Given the description of an element on the screen output the (x, y) to click on. 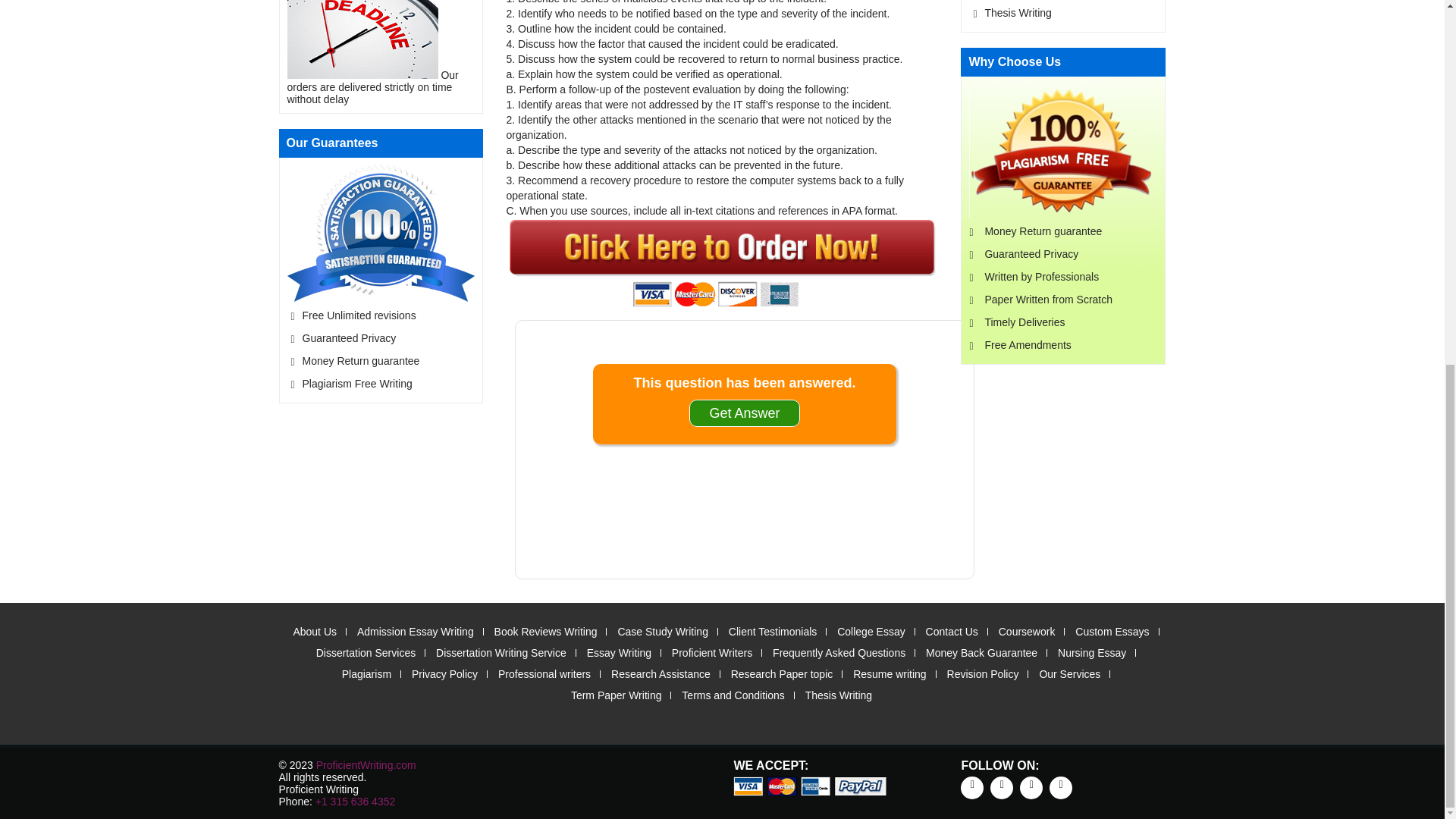
Money Back Guarantee (981, 653)
College Essay (871, 631)
Custom Essays (1111, 631)
Nursing Essay (1091, 653)
Terms and Conditions (732, 695)
Admission Essay Writing (415, 631)
Professional writers (544, 674)
Frequently Asked Questions (839, 653)
Privacy Policy (444, 674)
Dissertation Writing Service (500, 653)
Resume writing (889, 674)
Revision Policy (983, 674)
Book Reviews Writing (545, 631)
Research Paper topic (781, 674)
About Us (314, 631)
